Given the description of an element on the screen output the (x, y) to click on. 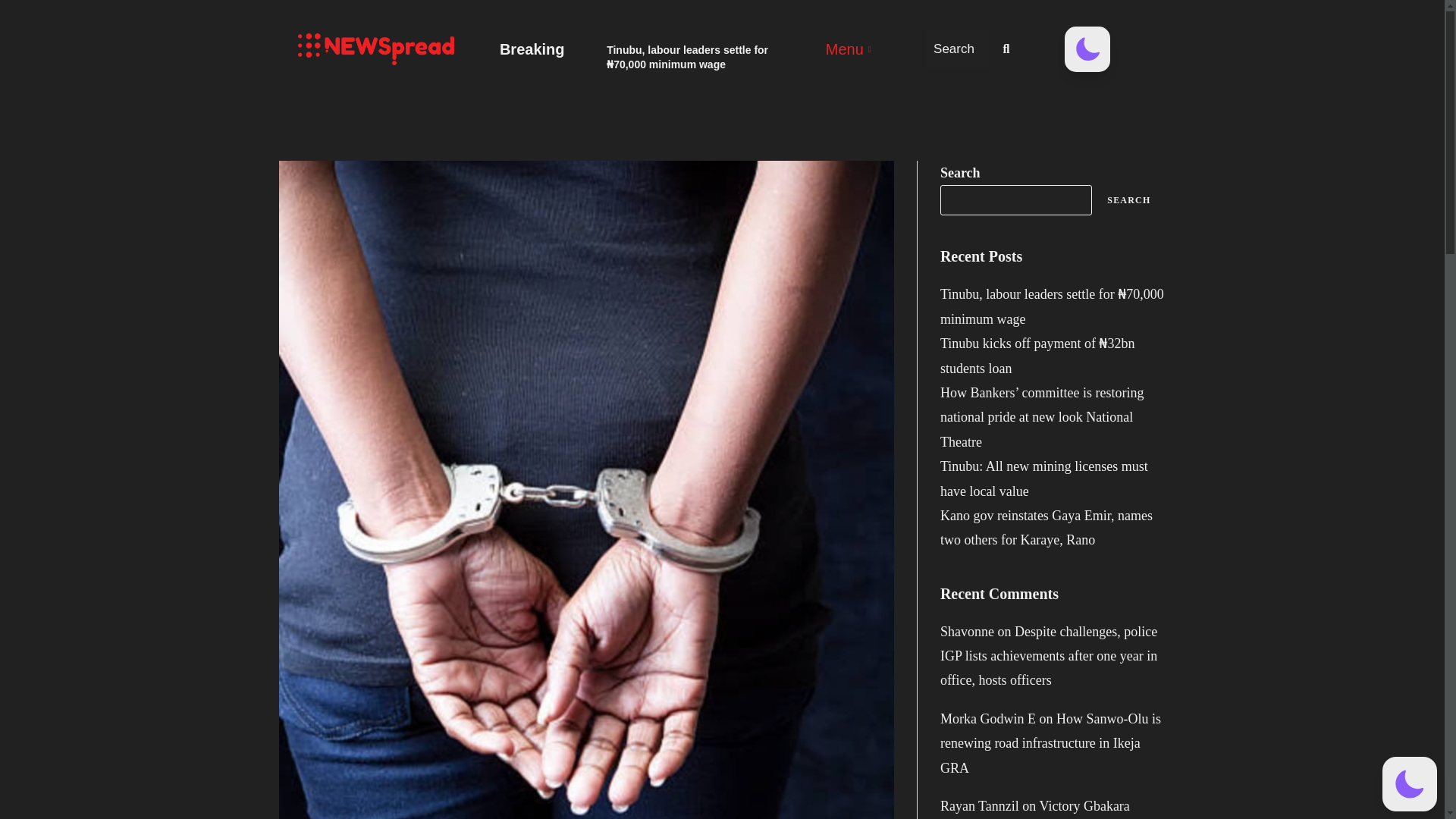
Search (958, 49)
Menu (849, 48)
